Given the description of an element on the screen output the (x, y) to click on. 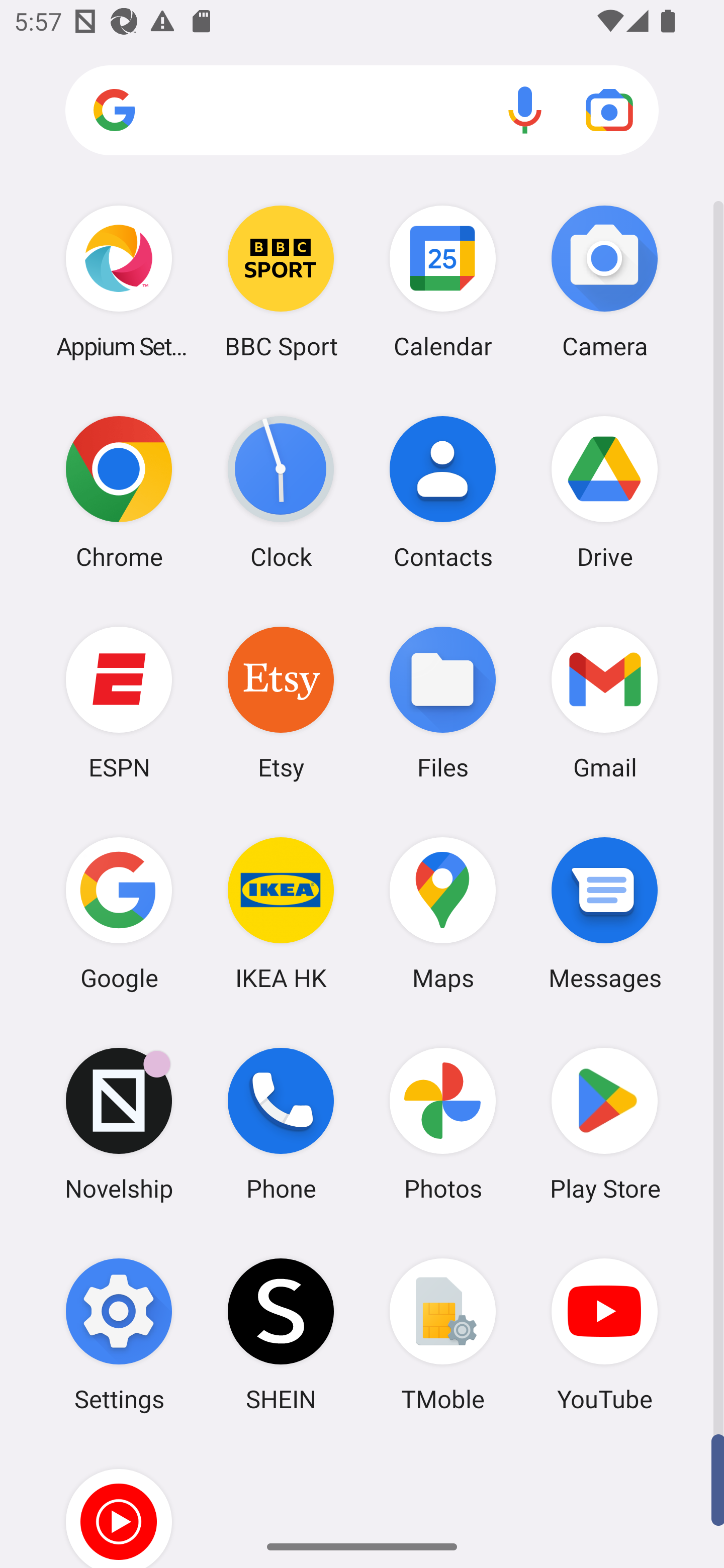
Search apps, web and more (361, 110)
Voice search (524, 109)
Google Lens (608, 109)
Appium Settings (118, 281)
BBC Sport (280, 281)
Calendar (443, 281)
Camera (604, 281)
Chrome (118, 492)
Clock (280, 492)
Contacts (443, 492)
Drive (604, 492)
ESPN (118, 702)
Etsy (280, 702)
Files (443, 702)
Gmail (604, 702)
Google (118, 913)
IKEA HK (280, 913)
Maps (443, 913)
Messages (604, 913)
Novelship Novelship has 2 notifications (118, 1124)
Phone (280, 1124)
Photos (443, 1124)
Play Store (604, 1124)
Settings (118, 1334)
SHEIN (280, 1334)
TMoble (443, 1334)
YouTube (604, 1334)
YT Music (118, 1503)
